Given the description of an element on the screen output the (x, y) to click on. 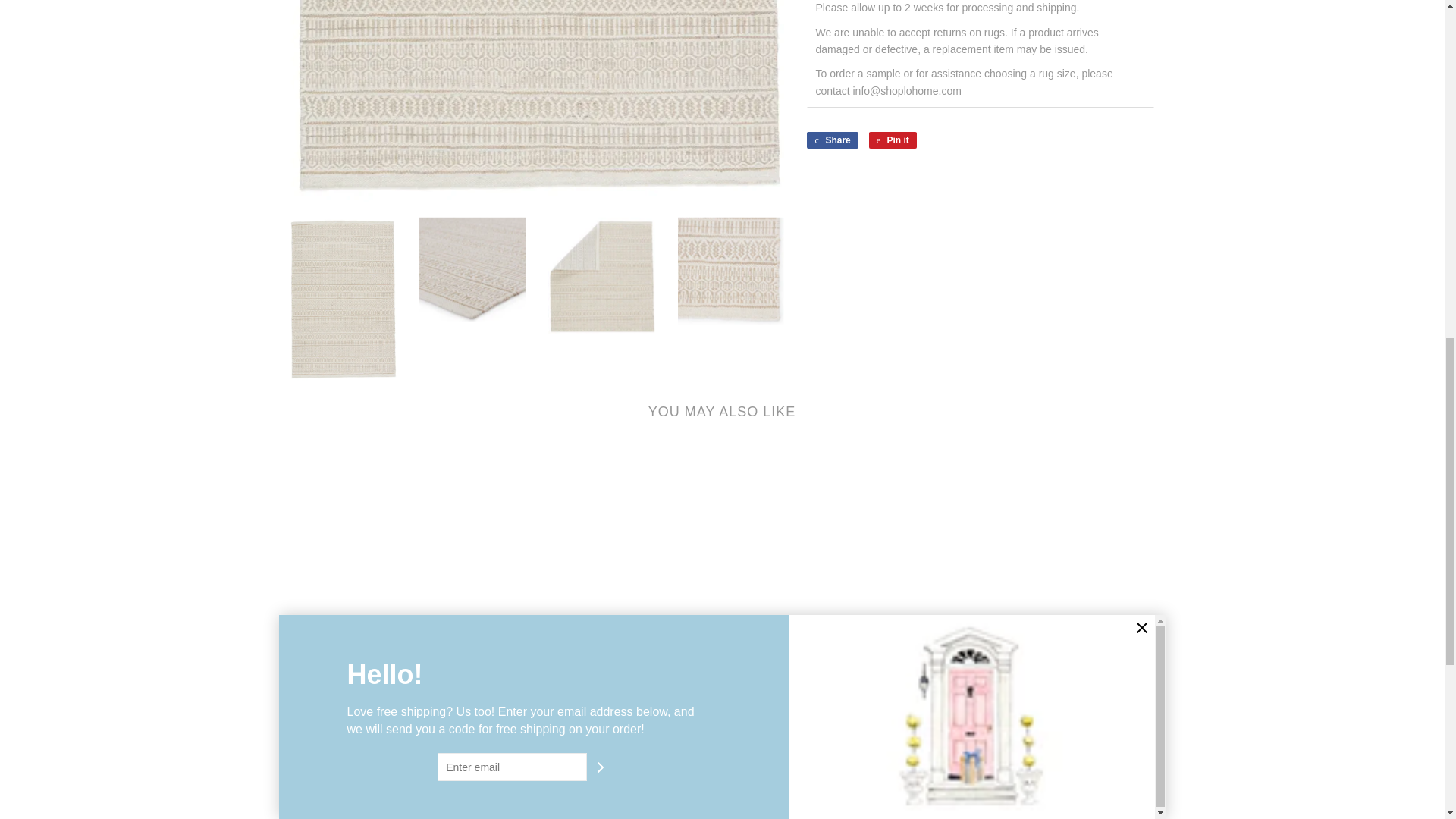
Isle Rug in Beige (342, 298)
Isle Rug in Beige (472, 269)
Isle Rug in Beige (731, 271)
Isle Rug in Beige (601, 275)
